Given the description of an element on the screen output the (x, y) to click on. 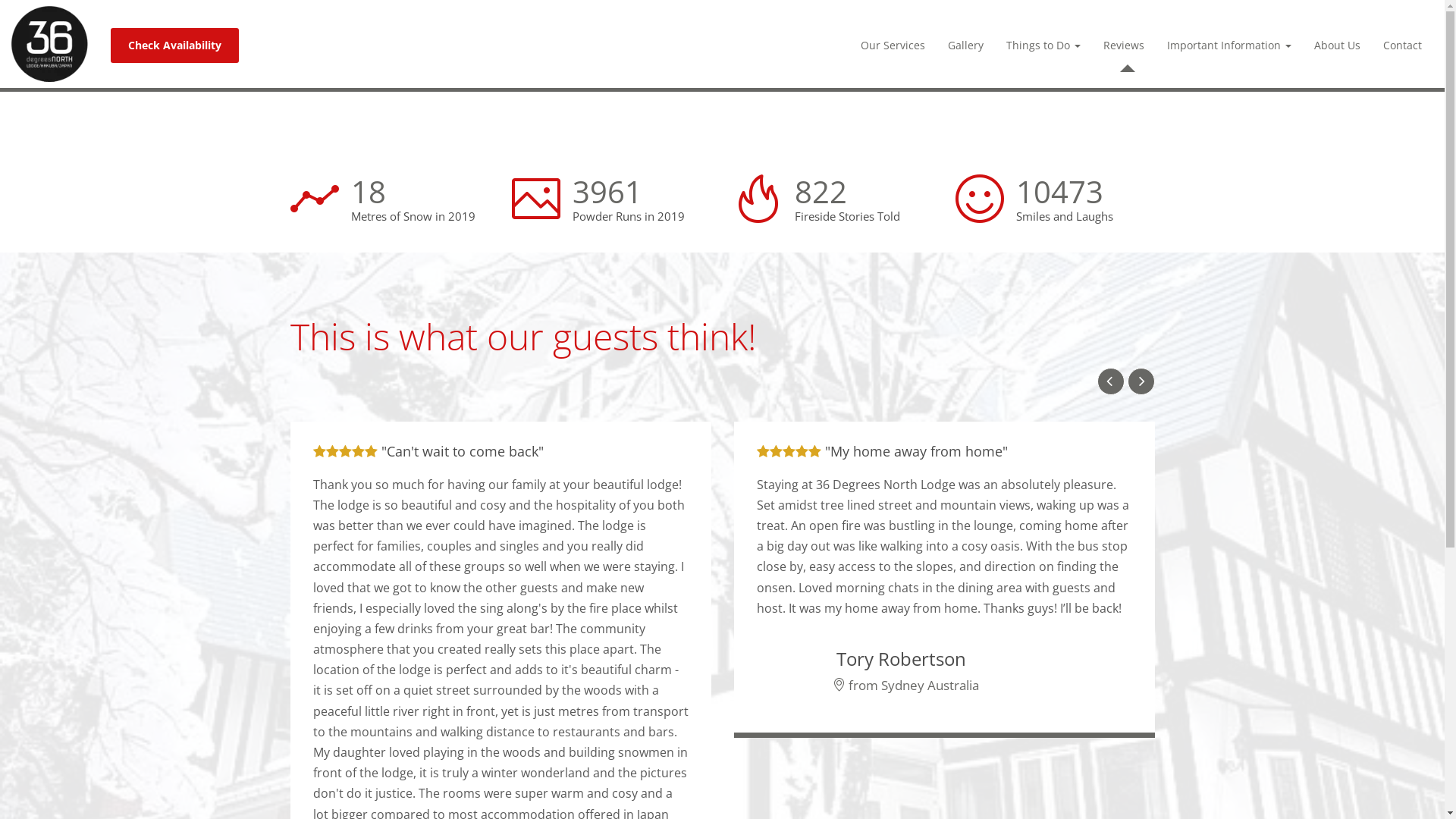
Things to Do Element type: text (1043, 45)
Check Availability Element type: text (174, 45)
About Us Element type: text (1336, 45)
Our Services Element type: text (892, 45)
Reviews Element type: text (1123, 45)
Gallery Element type: text (965, 45)
Important Information Element type: text (1228, 45)
Contact Element type: text (1402, 45)
